Given the description of an element on the screen output the (x, y) to click on. 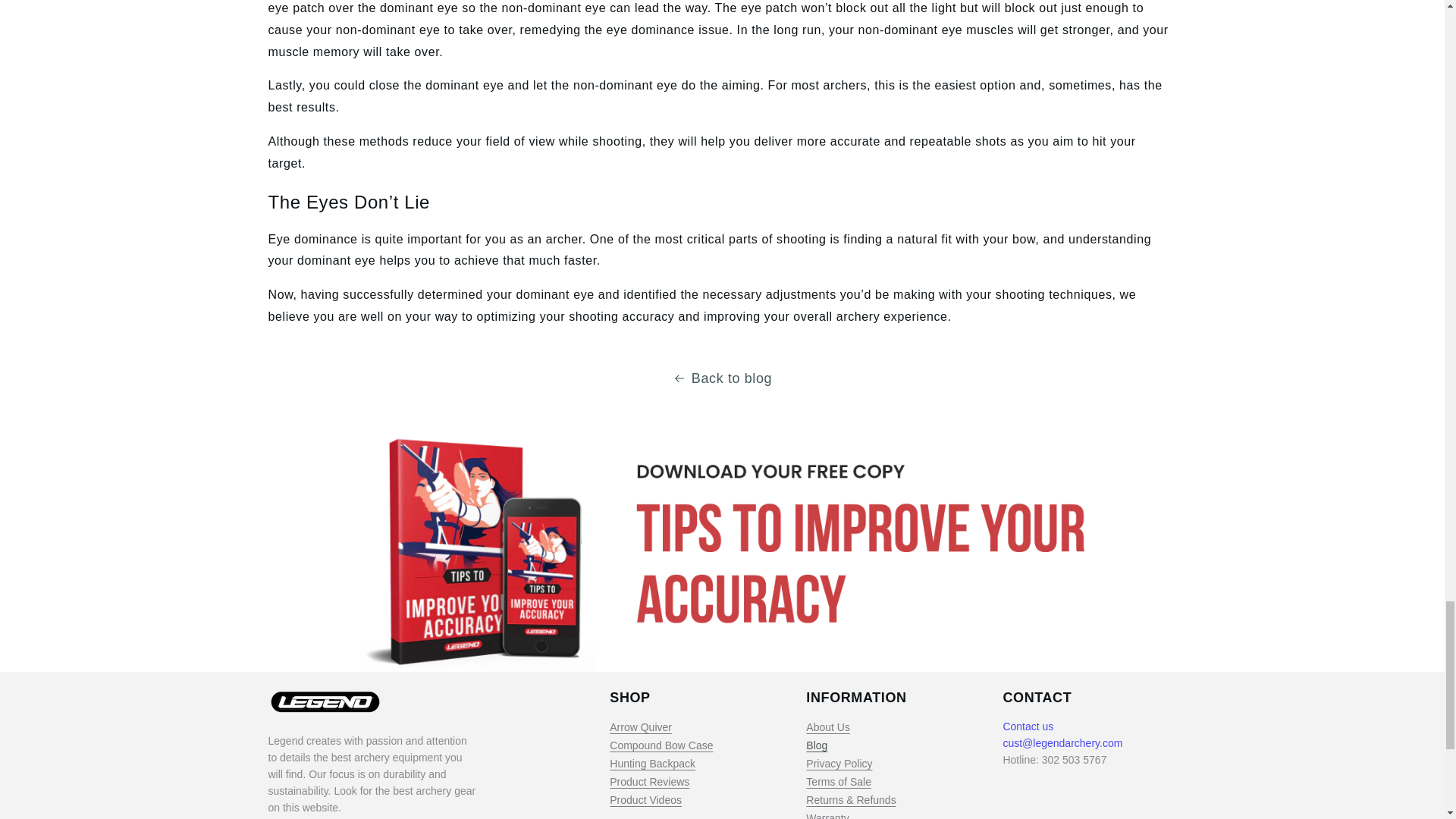
Contact Us (1027, 726)
